Given the description of an element on the screen output the (x, y) to click on. 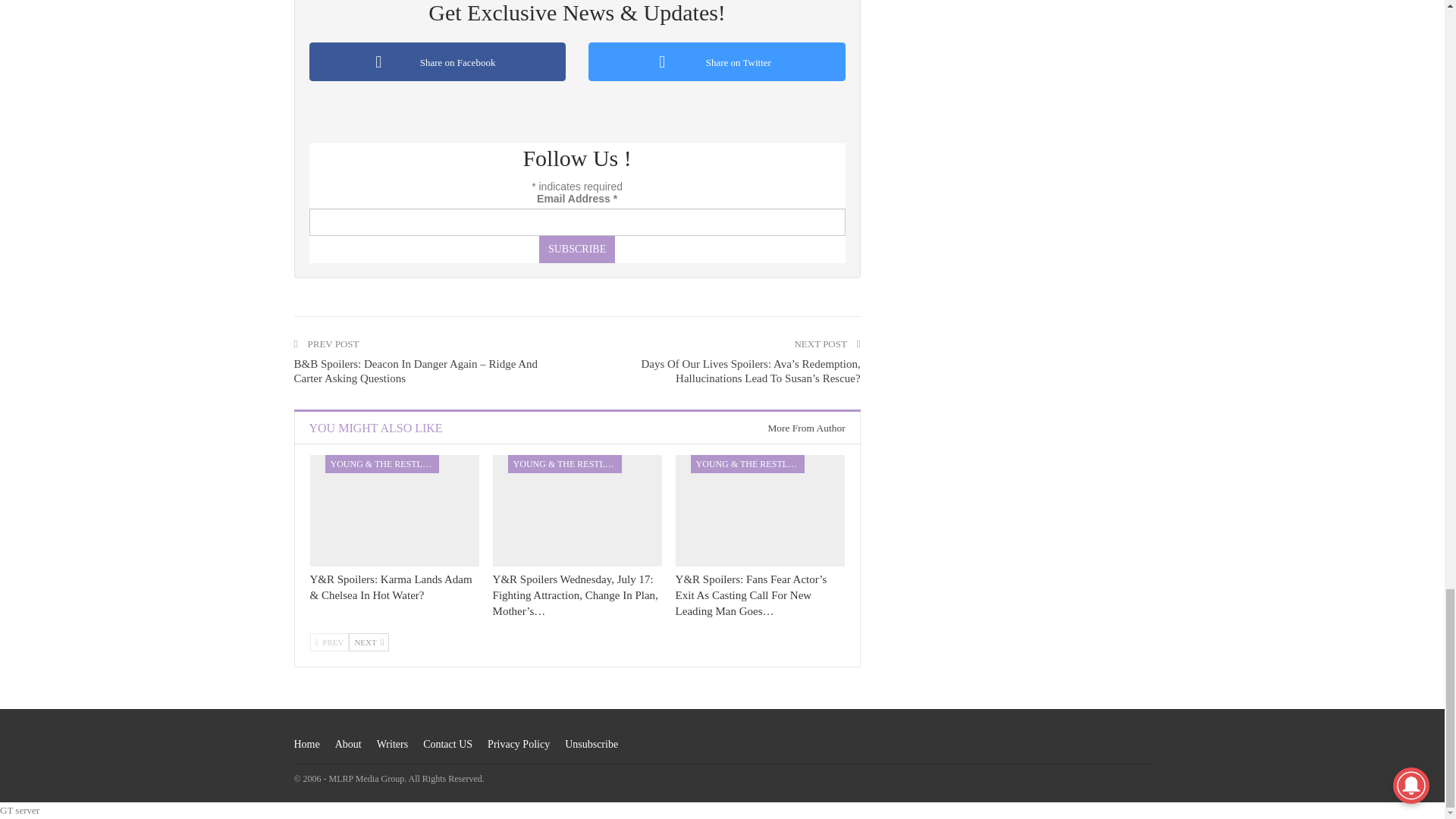
Previous (328, 642)
Subscribe (576, 248)
Next (368, 642)
